Given the description of an element on the screen output the (x, y) to click on. 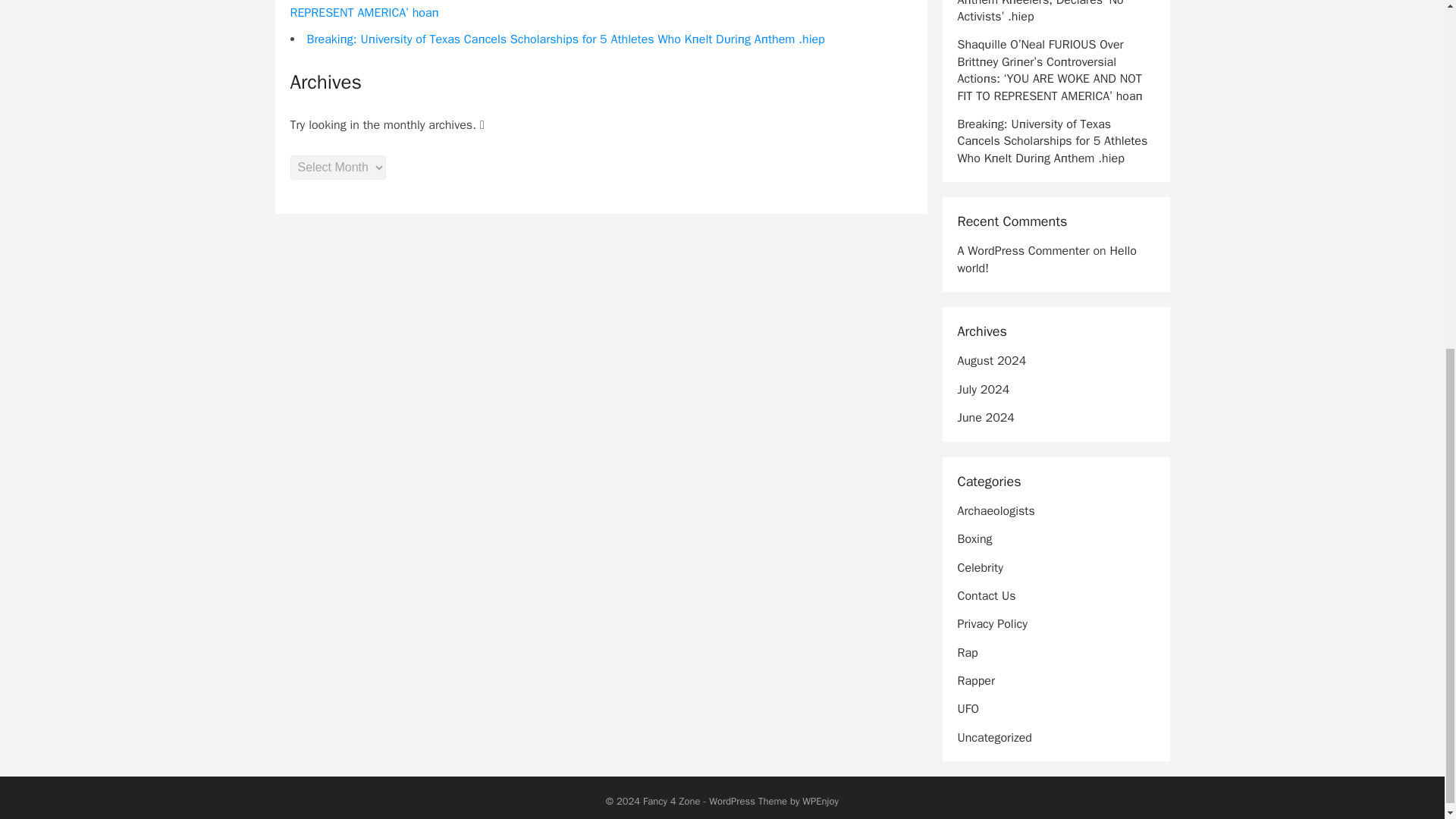
Celebrity (979, 567)
Boxing (973, 539)
Rap (966, 652)
Hello world! (1045, 259)
A WordPress Commenter (1022, 250)
Uncategorized (993, 737)
August 2024 (991, 360)
July 2024 (982, 389)
Rapper (975, 680)
Archaeologists (994, 510)
